Given the description of an element on the screen output the (x, y) to click on. 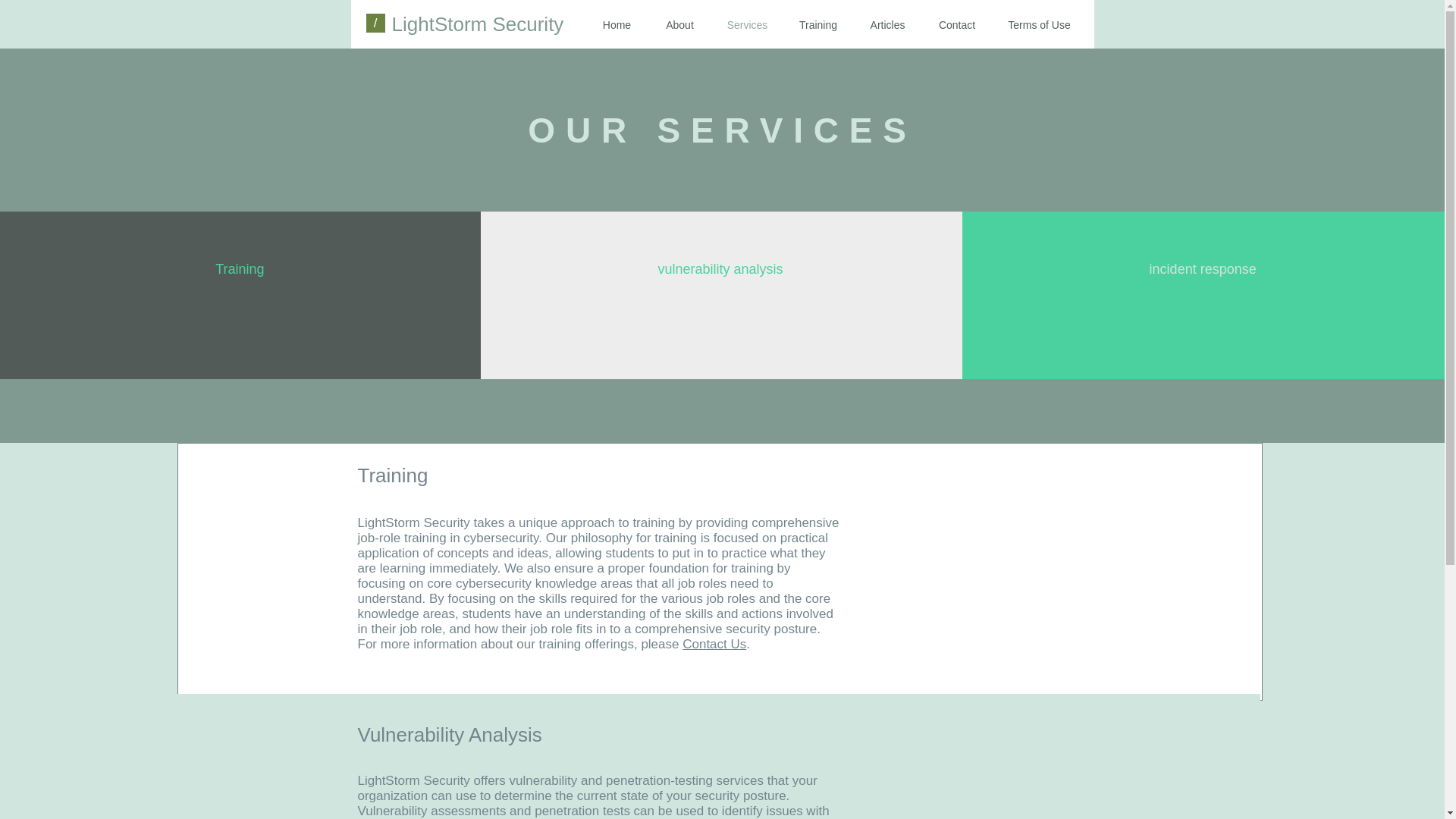
Contact Us (713, 644)
Contact (956, 25)
Terms of Use (1038, 25)
Articles (887, 25)
LightStorm Security (477, 24)
Services (747, 25)
Training (818, 25)
Home (616, 25)
About (679, 25)
